Given the description of an element on the screen output the (x, y) to click on. 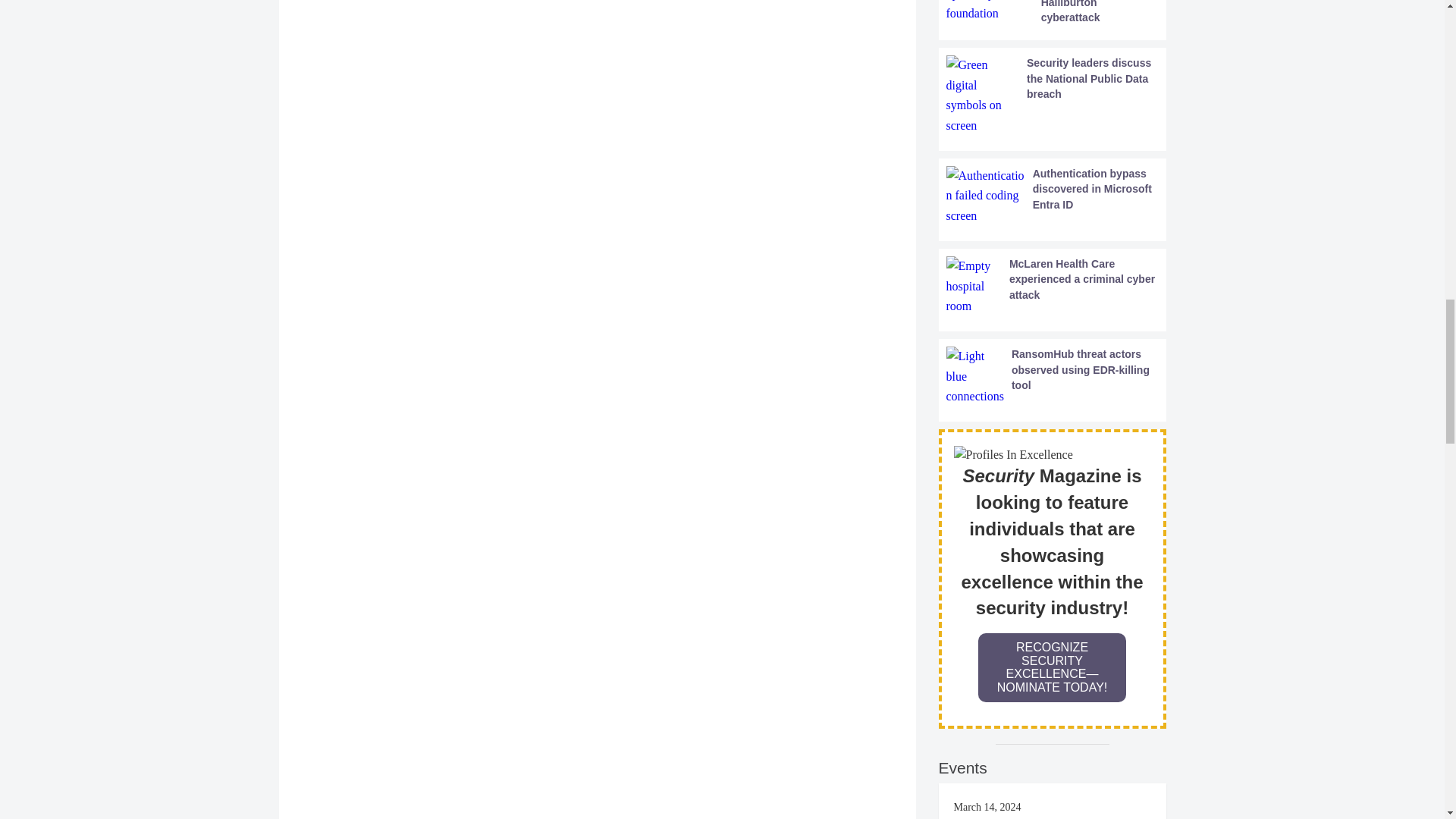
Security leaders discuss the National Public Data breach (1052, 95)
RansomHub threat actors observed using EDR-killing tool (1052, 376)
Security leaders respond to the Halliburton cyberattack (1052, 12)
Authentication bypass discovered in Microsoft Entra ID  (1052, 196)
McLaren Health Care experienced a criminal cyber attack (1052, 286)
